Given the description of an element on the screen output the (x, y) to click on. 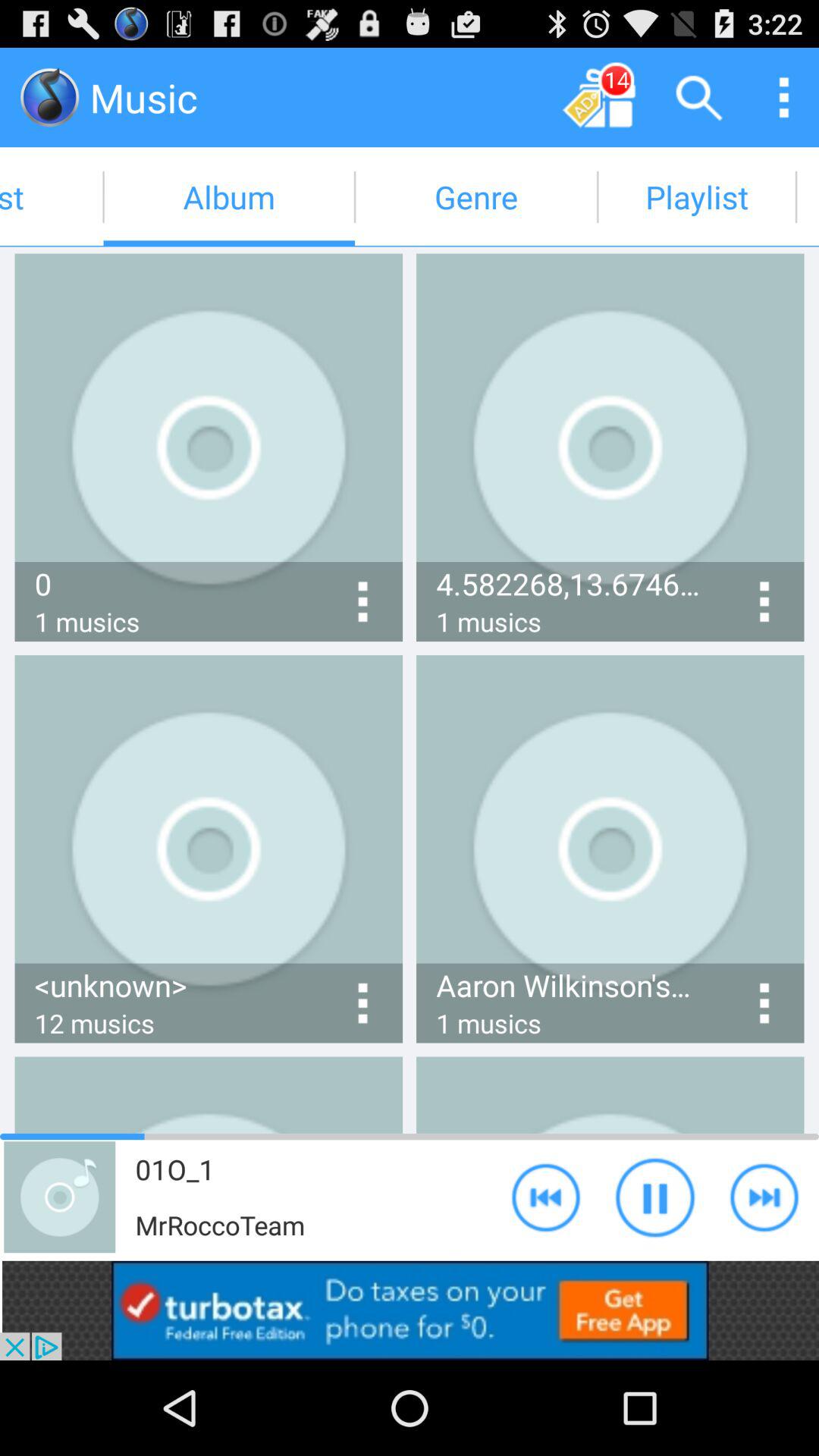
rewind track (545, 1196)
